Given the description of an element on the screen output the (x, y) to click on. 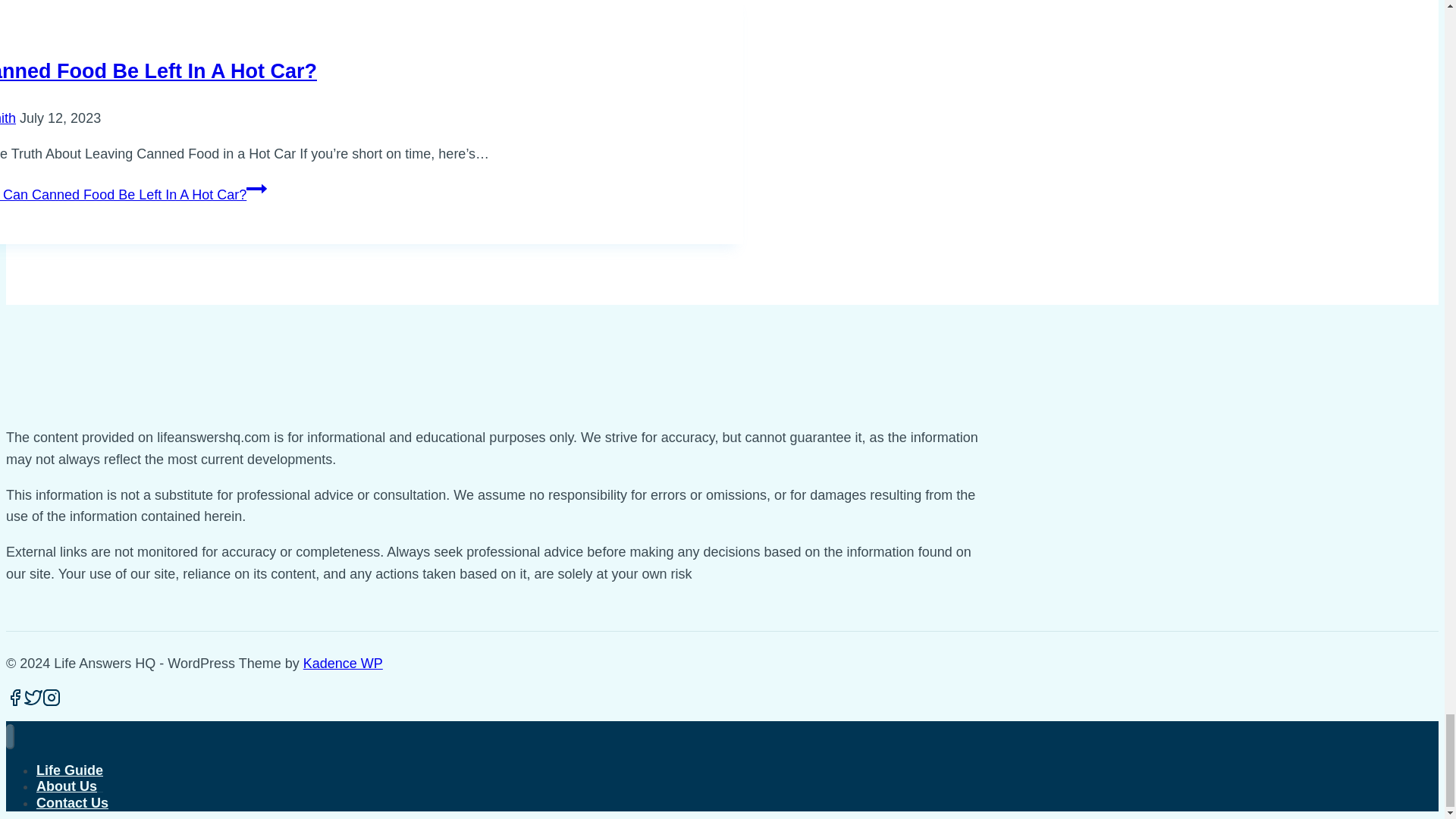
Facebook (14, 697)
Jane Smith (8, 118)
Twitter (33, 697)
Kadence WP (342, 663)
Can Canned Food Be Left In A Hot Car? (158, 70)
Instagram (51, 697)
Continue (256, 188)
Read More Can Canned Food Be Left In A Hot Car?Continue (133, 194)
Facebook (14, 701)
